Given the description of an element on the screen output the (x, y) to click on. 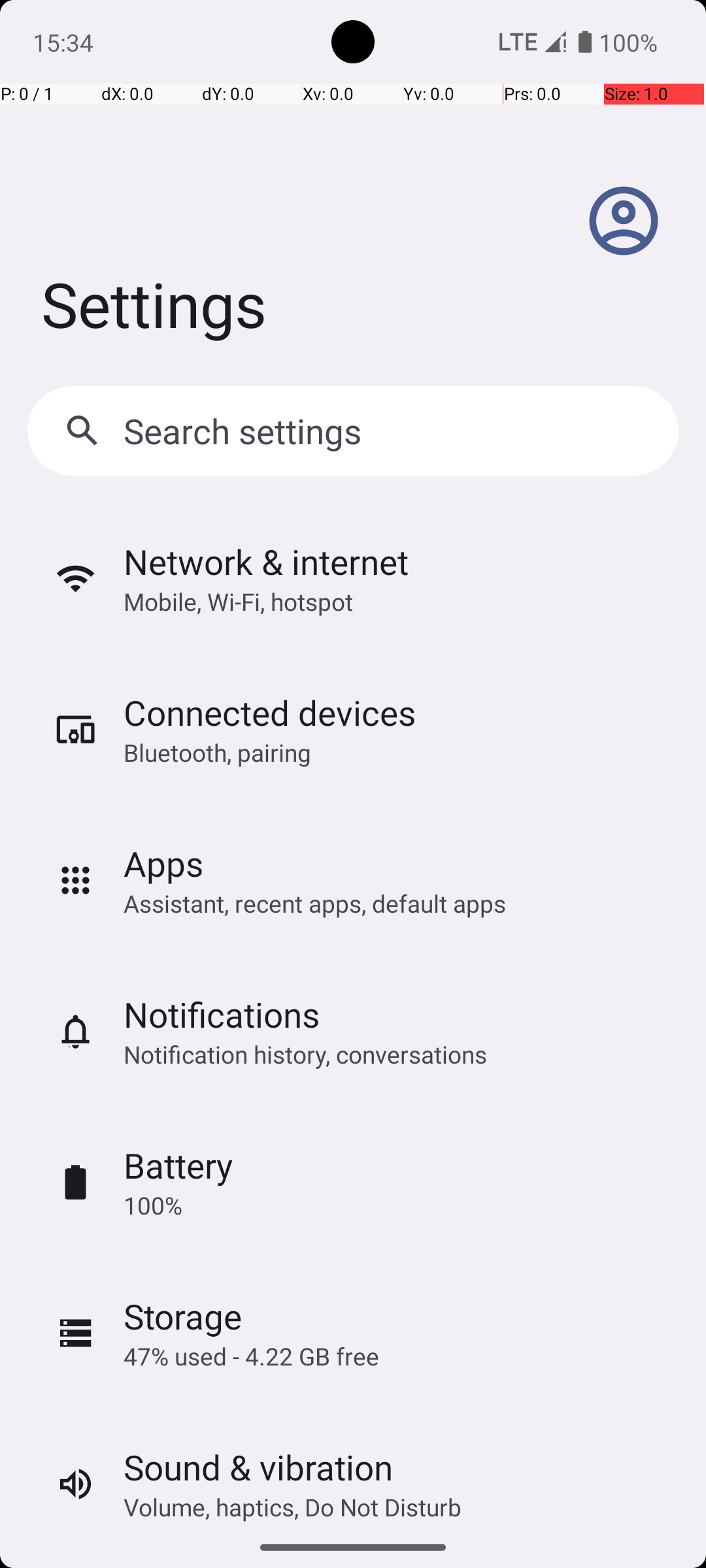
47% used - 4.22 GB free Element type: android.widget.TextView (251, 1355)
